Given the description of an element on the screen output the (x, y) to click on. 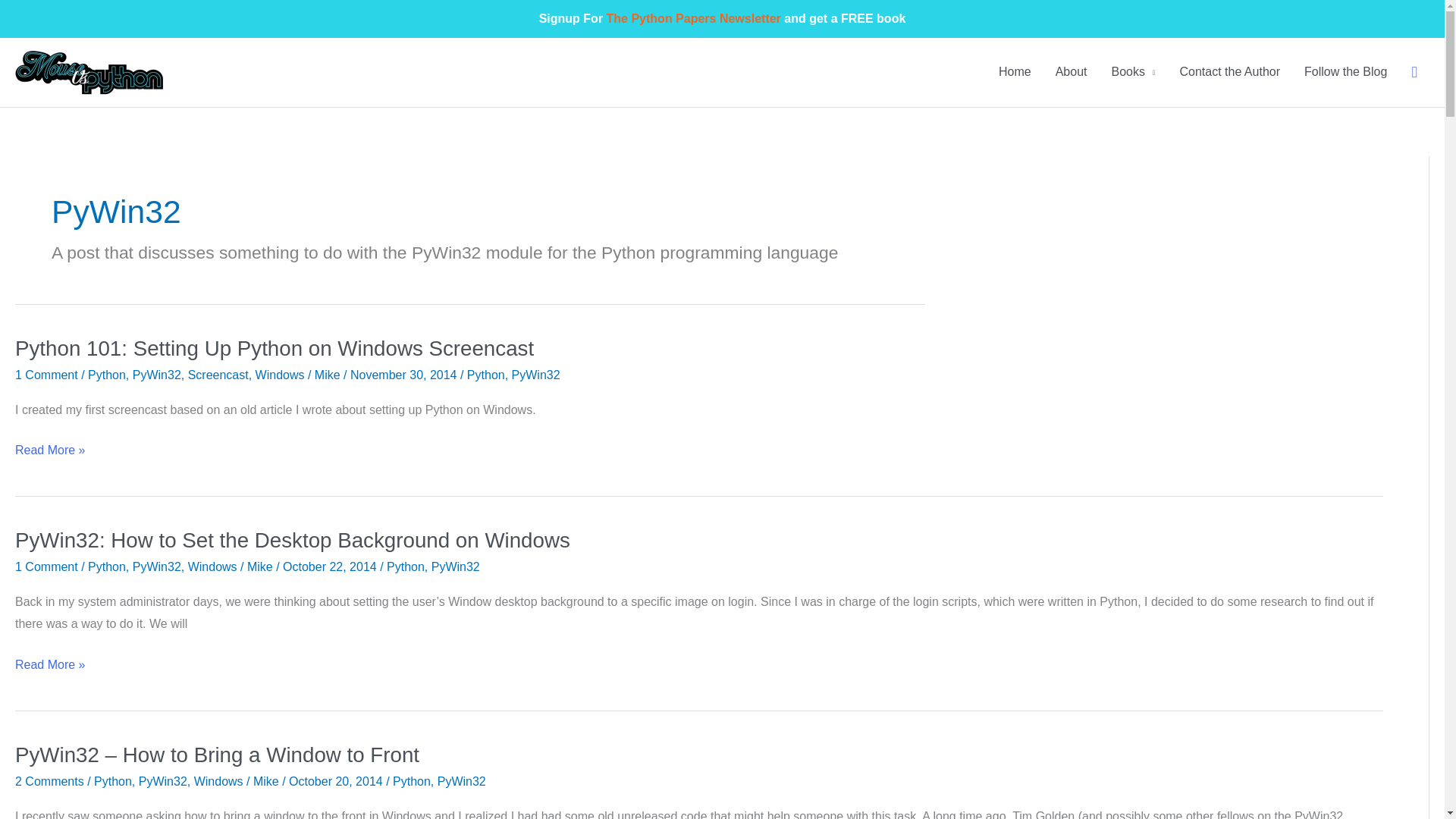
Mike (328, 374)
Mike (261, 566)
PyWin32 (156, 566)
Python 101: Setting Up Python on Windows Screencast (274, 348)
Screencast (217, 374)
View all posts by Mike (261, 566)
PyWin32 (156, 374)
Python (113, 780)
Windows (280, 374)
The Python Papers Newsletter (693, 18)
